Given the description of an element on the screen output the (x, y) to click on. 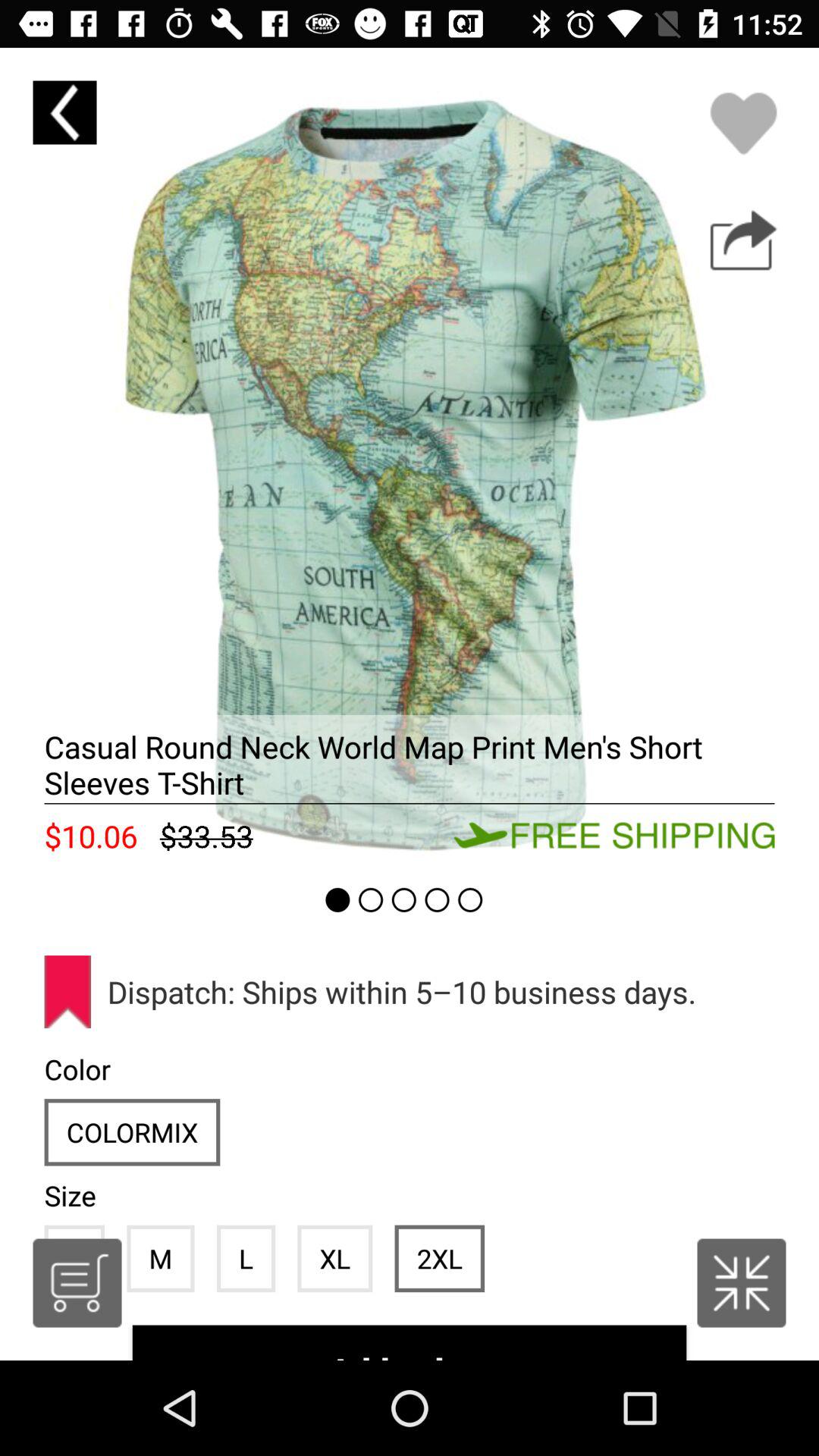
click the item below colormix (160, 1258)
